Given the description of an element on the screen output the (x, y) to click on. 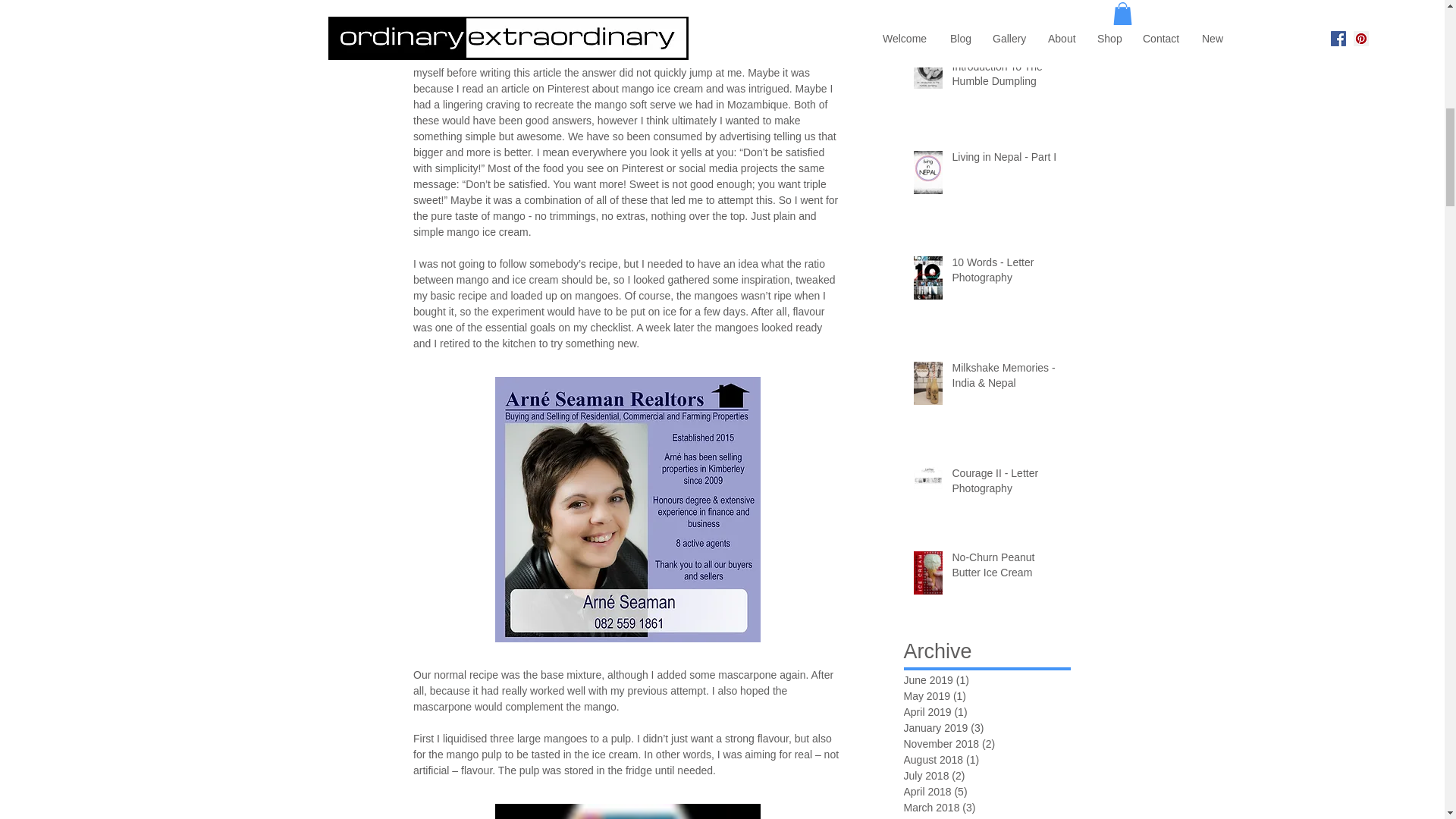
10 Words - Letter Photography (1006, 273)
Courage II - Letter Photography (1006, 484)
MO:MO: Diaries - An Introduction To The Humble Dumpling (1006, 70)
Living in Nepal - Part I (1006, 160)
